Given the description of an element on the screen output the (x, y) to click on. 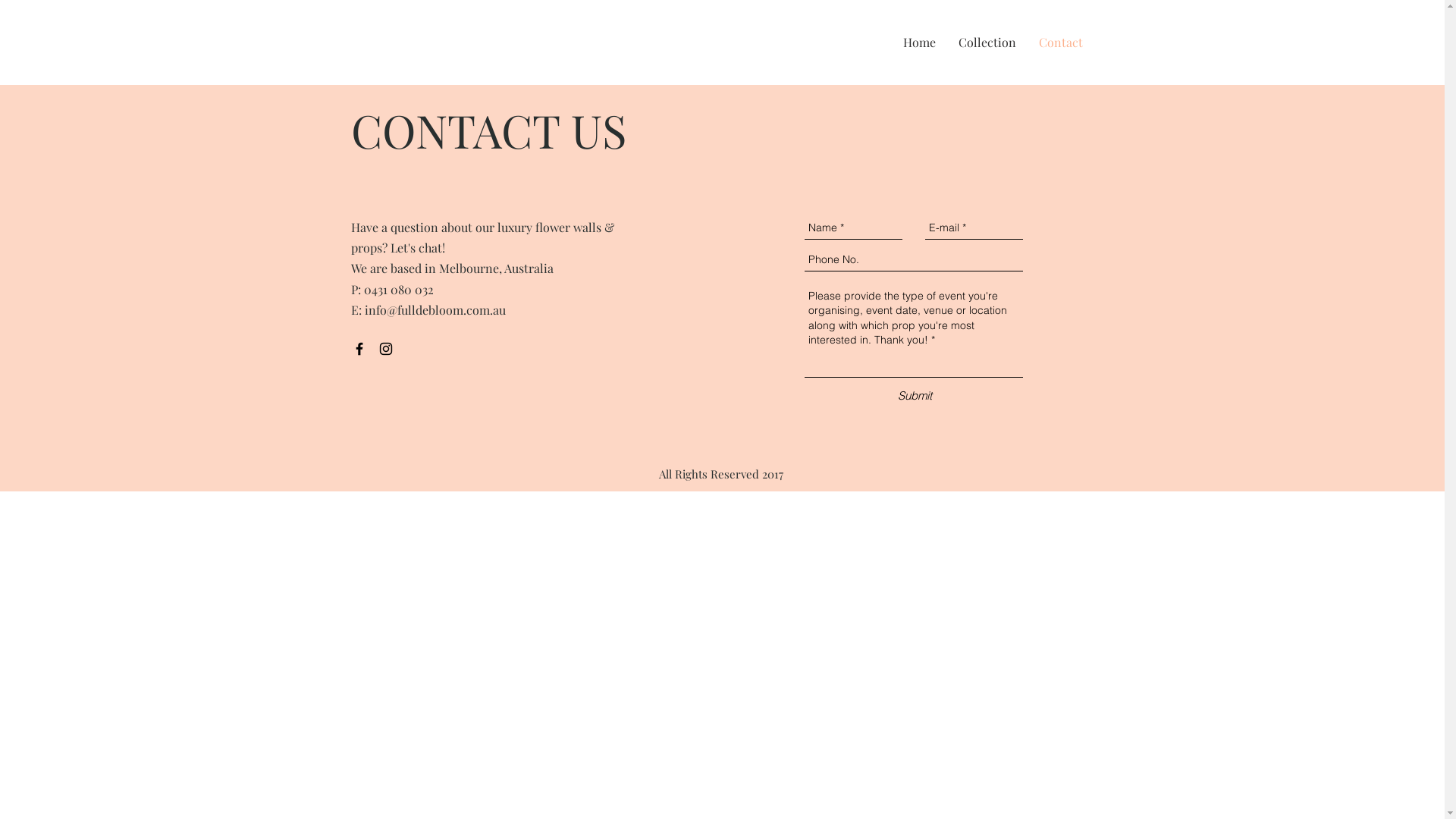
Home Element type: text (919, 42)
Contact Element type: text (1059, 42)
Collection Element type: text (986, 42)
info@fulldebloom.com.au Element type: text (434, 309)
Submit Element type: text (913, 395)
